Given the description of an element on the screen output the (x, y) to click on. 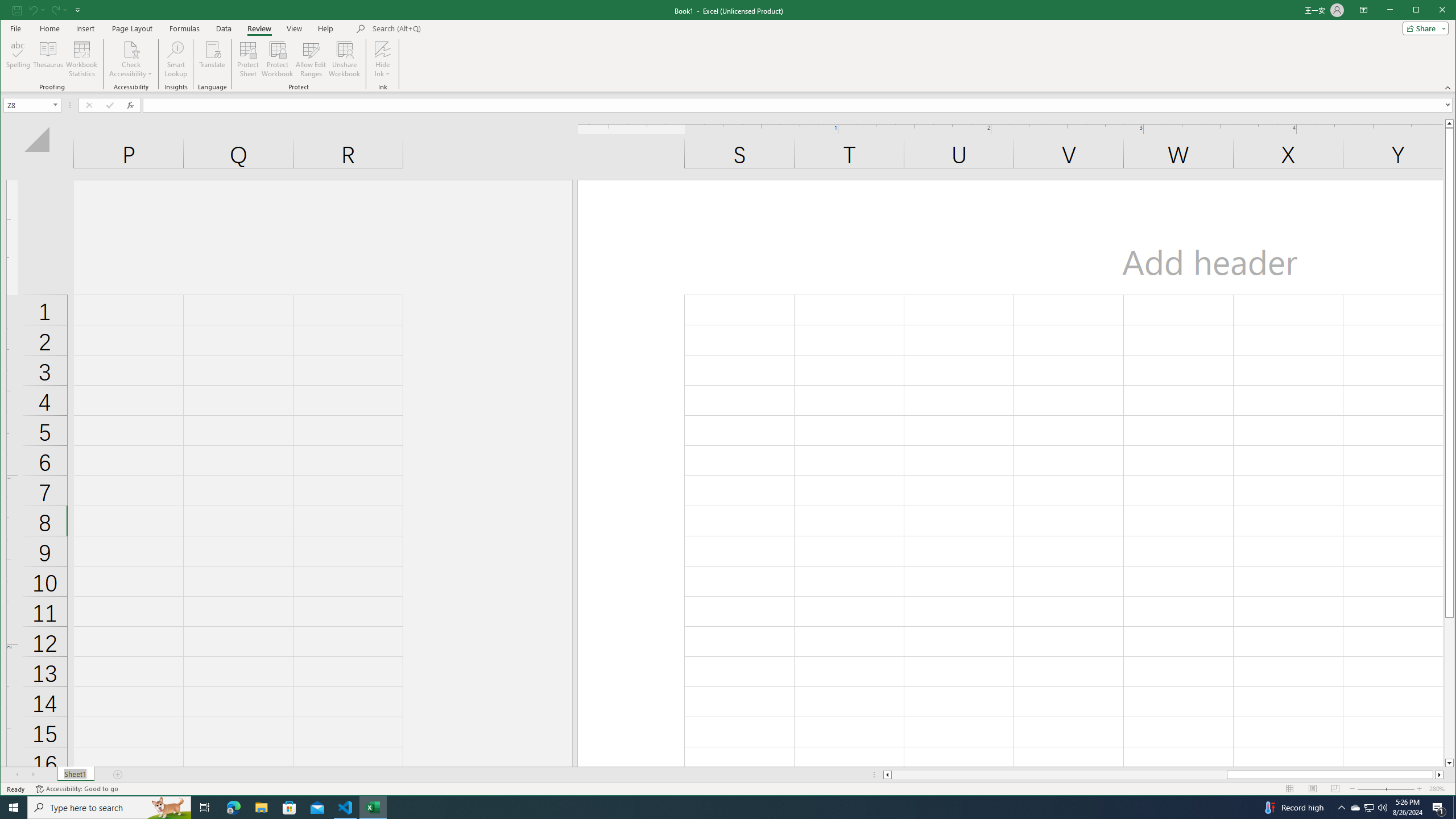
Unshare Workbook (344, 59)
Check Accessibility (130, 48)
Hide Ink (382, 59)
Visual Studio Code - 1 running window (345, 807)
Type here to search (108, 807)
Class: MsoCommandBar (728, 45)
Task View (204, 807)
Microsoft Edge (233, 807)
